Given the description of an element on the screen output the (x, y) to click on. 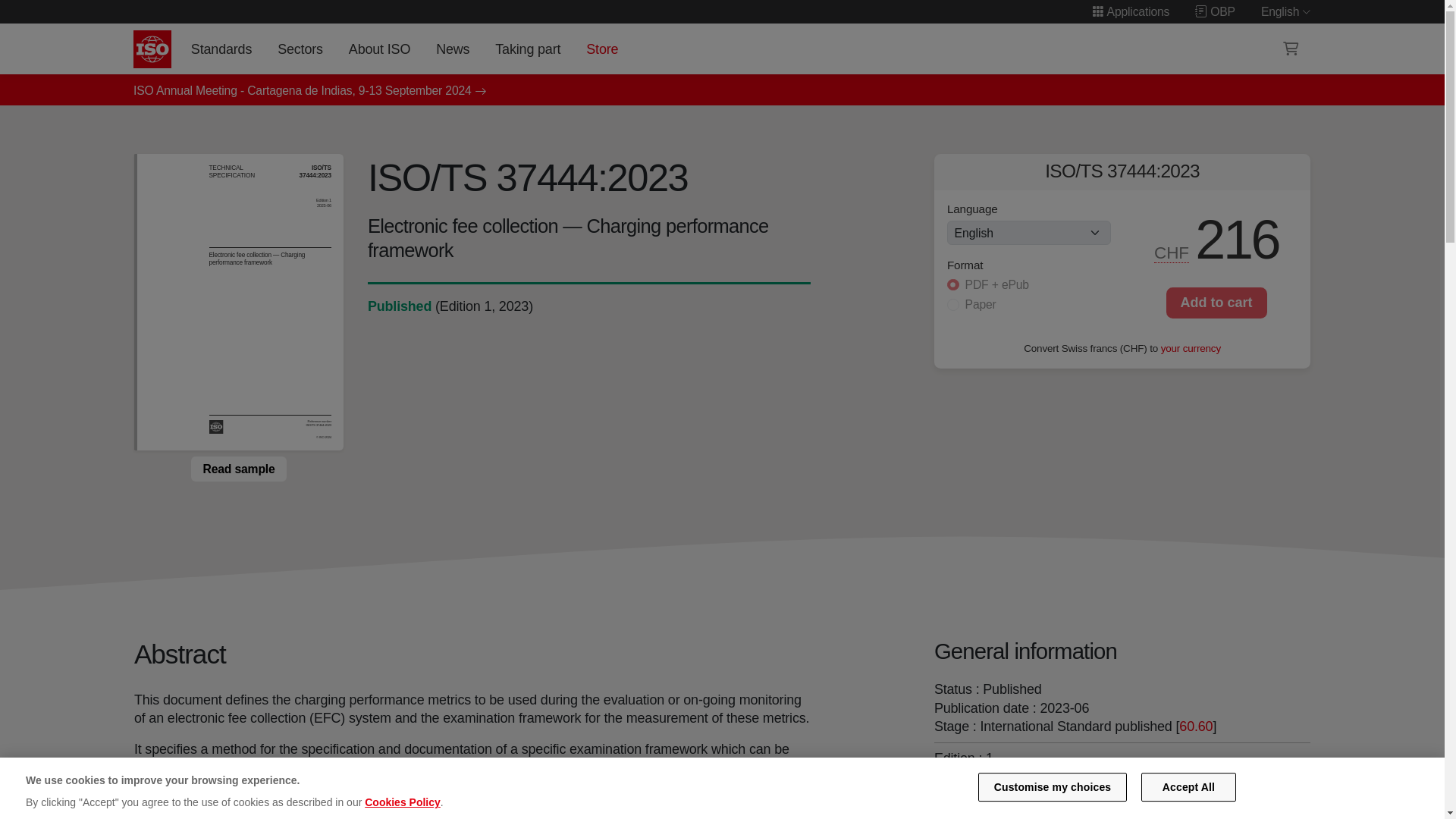
ISO's applications portal (1130, 11)
About ISO (379, 48)
Life cycle (398, 305)
News (452, 48)
Taking part (528, 48)
60.60 (1195, 726)
Store (601, 48)
Read sample (237, 469)
Shopping cart (1290, 49)
